Given the description of an element on the screen output the (x, y) to click on. 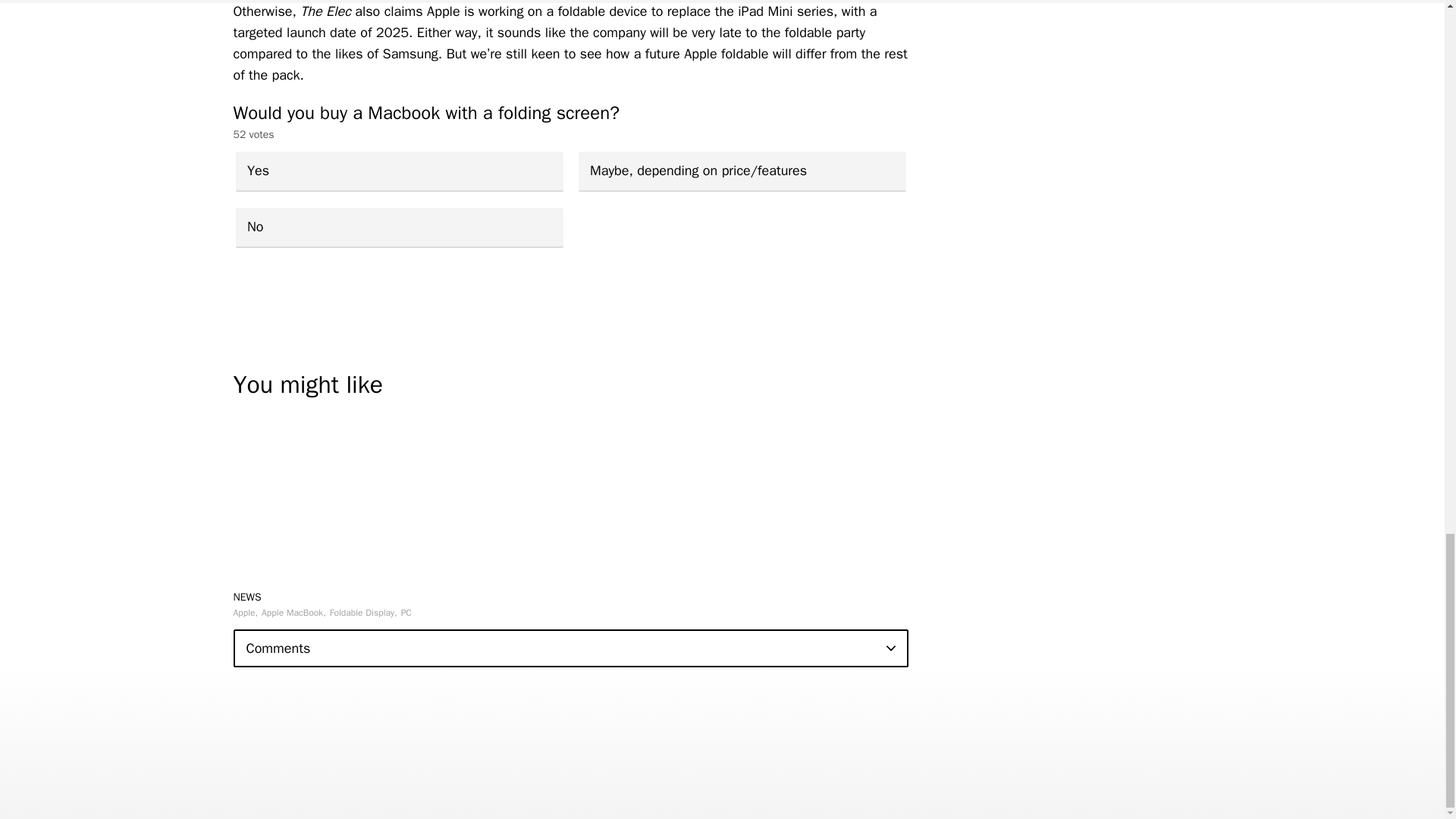
PC (406, 612)
NEWS (247, 596)
No (398, 228)
Comments (570, 648)
Apple (245, 612)
Apple MacBook (294, 612)
Foldable Display (363, 612)
Yes (398, 171)
